Given the description of an element on the screen output the (x, y) to click on. 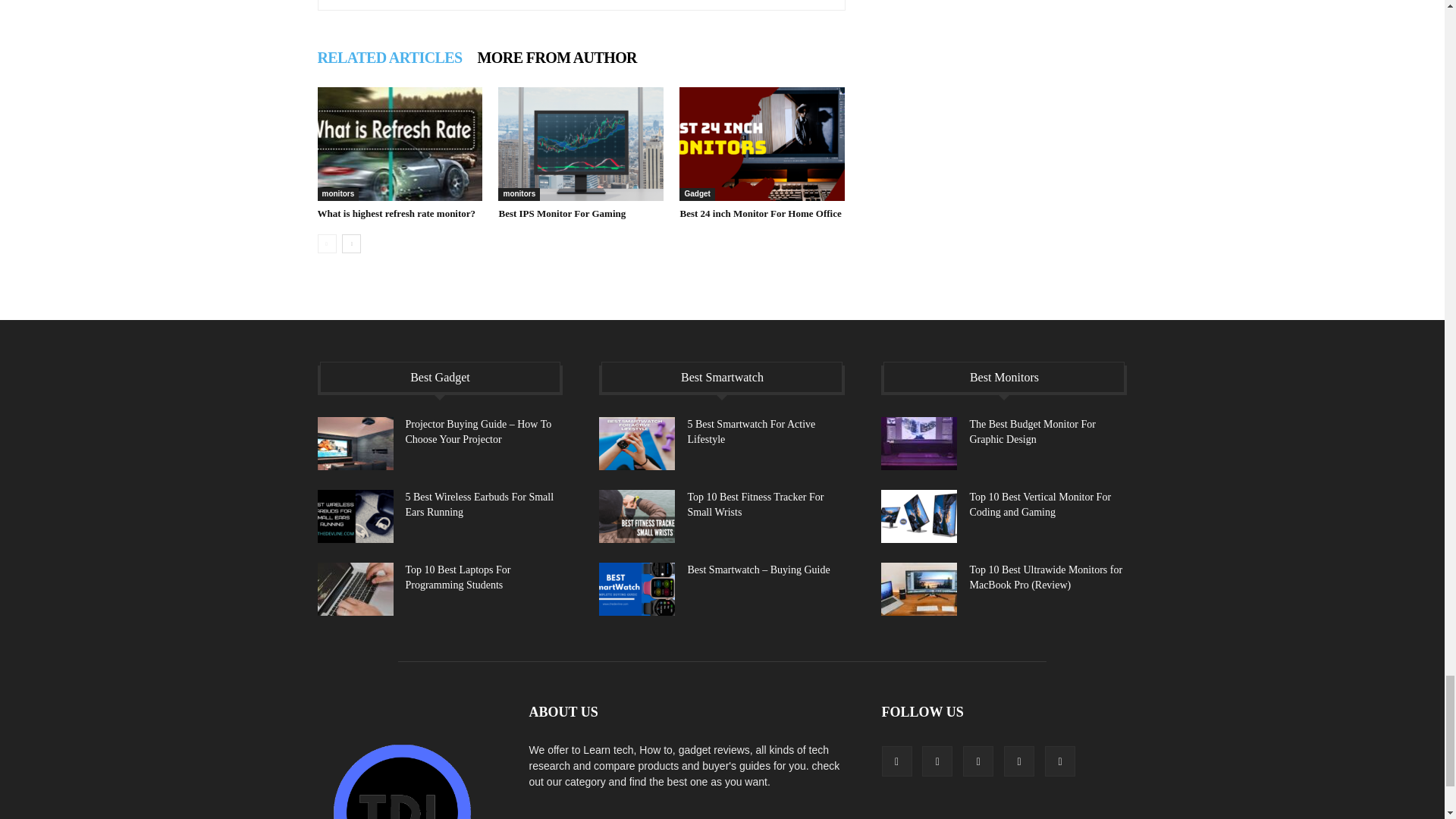
Best IPS Monitor For Gaming (580, 143)
What is highest refresh rate monitor? (396, 213)
What is highest refresh rate monitor? (399, 143)
